Given the description of an element on the screen output the (x, y) to click on. 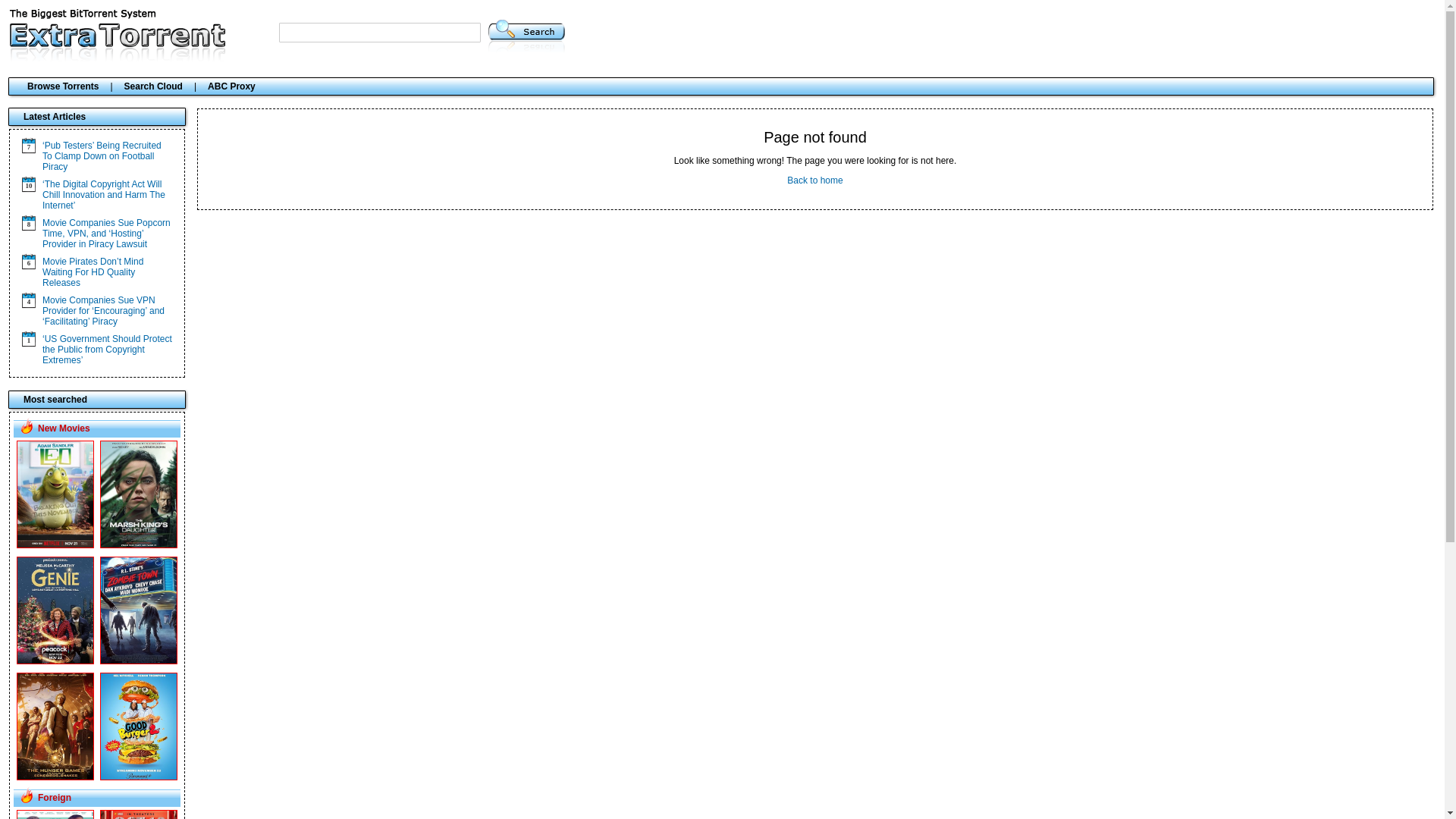
ExtraTorrent.st - The Largest Bittorent System Element type: hover (118, 62)
Browse Torrents Element type: text (62, 86)
Search Cloud Element type: text (153, 86)
ABC Proxy Element type: text (231, 86)
Back to home Element type: text (814, 180)
View Torrent Info: Leo (2023) 1080p WEBRip x264 5.1 YTS YIFY Element type: hover (55, 544)
